Given the description of an element on the screen output the (x, y) to click on. 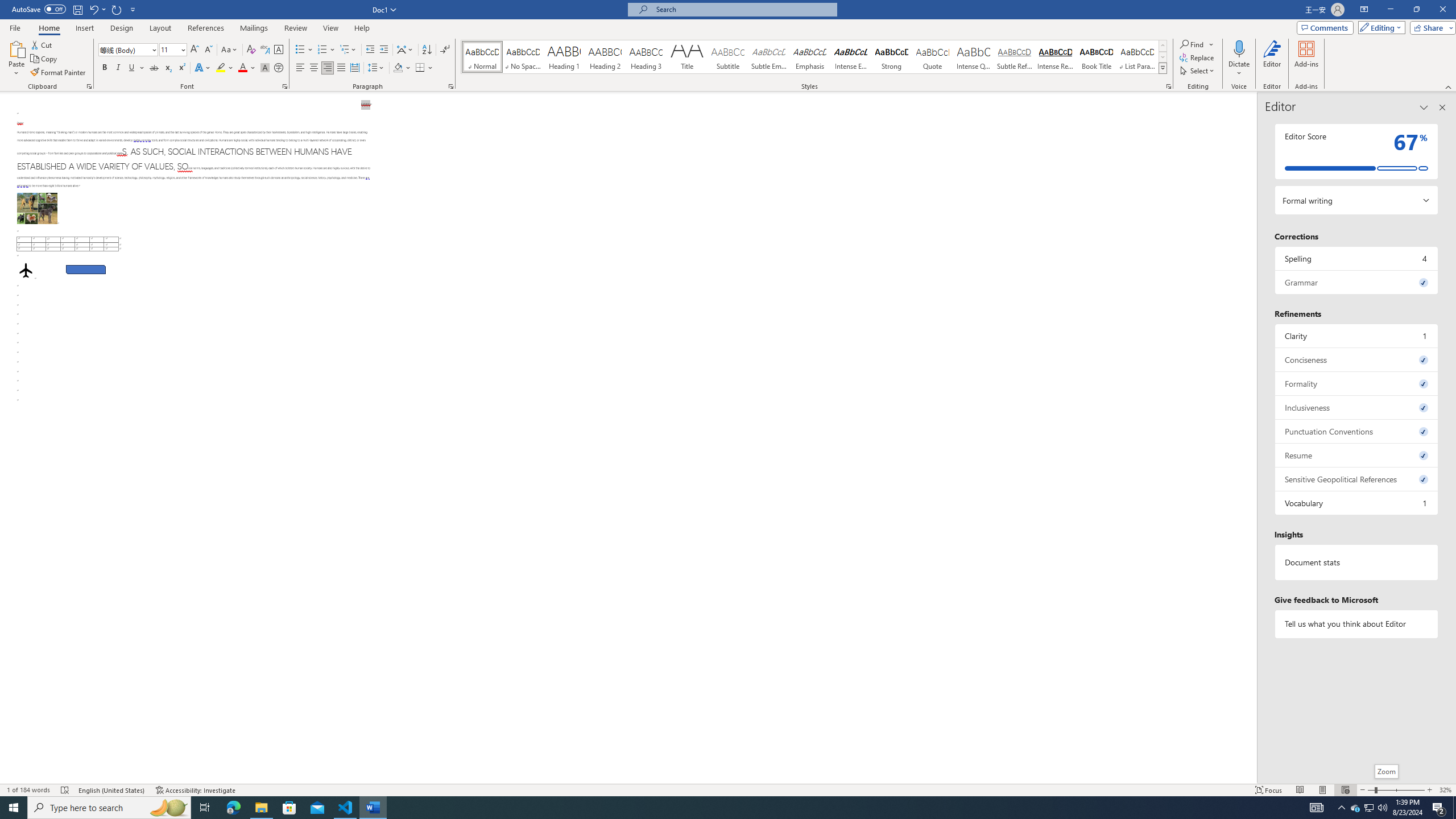
Spelling, 4 issues. Press space or enter to review items. (1356, 258)
